Given the description of an element on the screen output the (x, y) to click on. 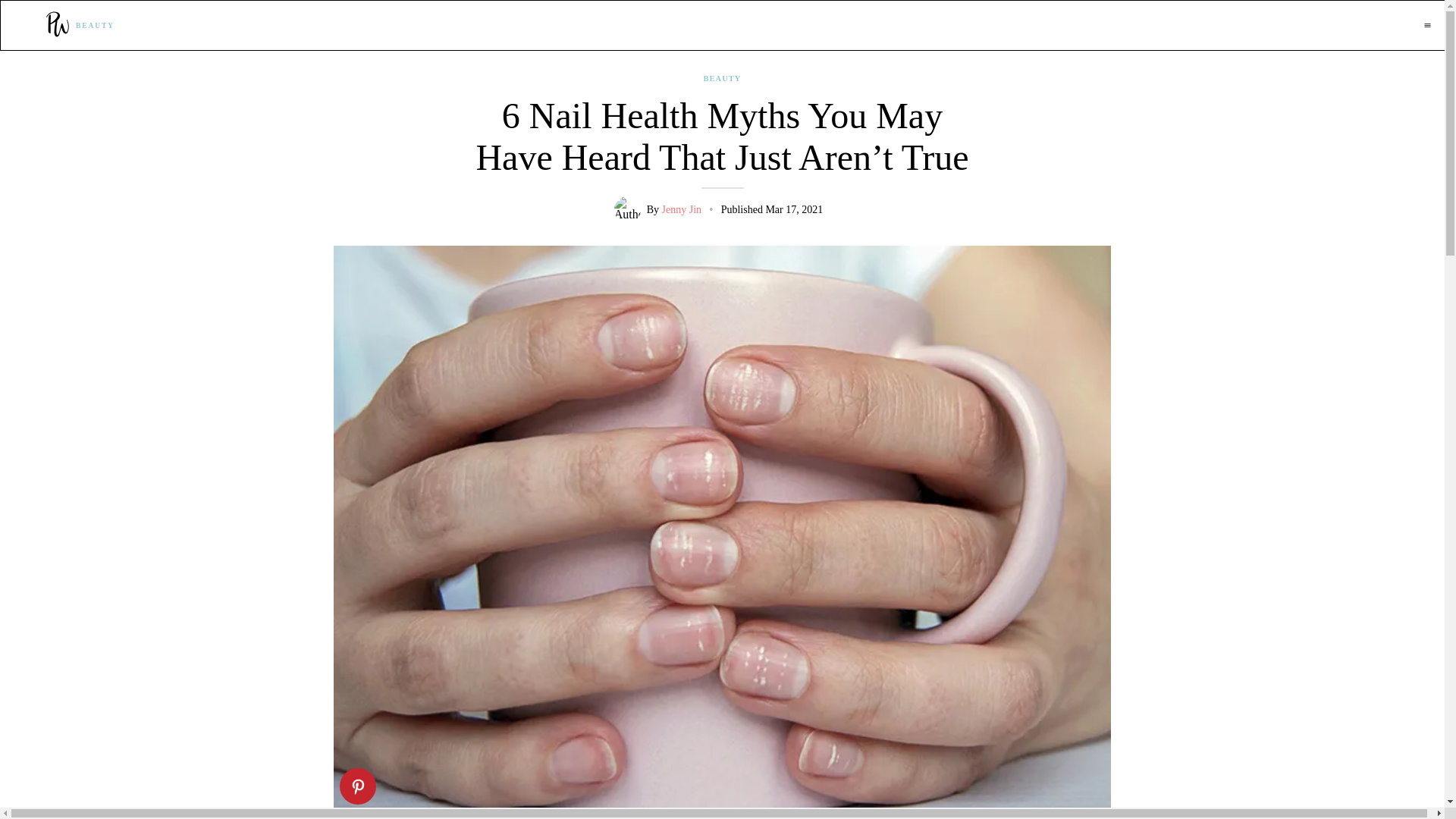
PureWow (57, 25)
